Given the description of an element on the screen output the (x, y) to click on. 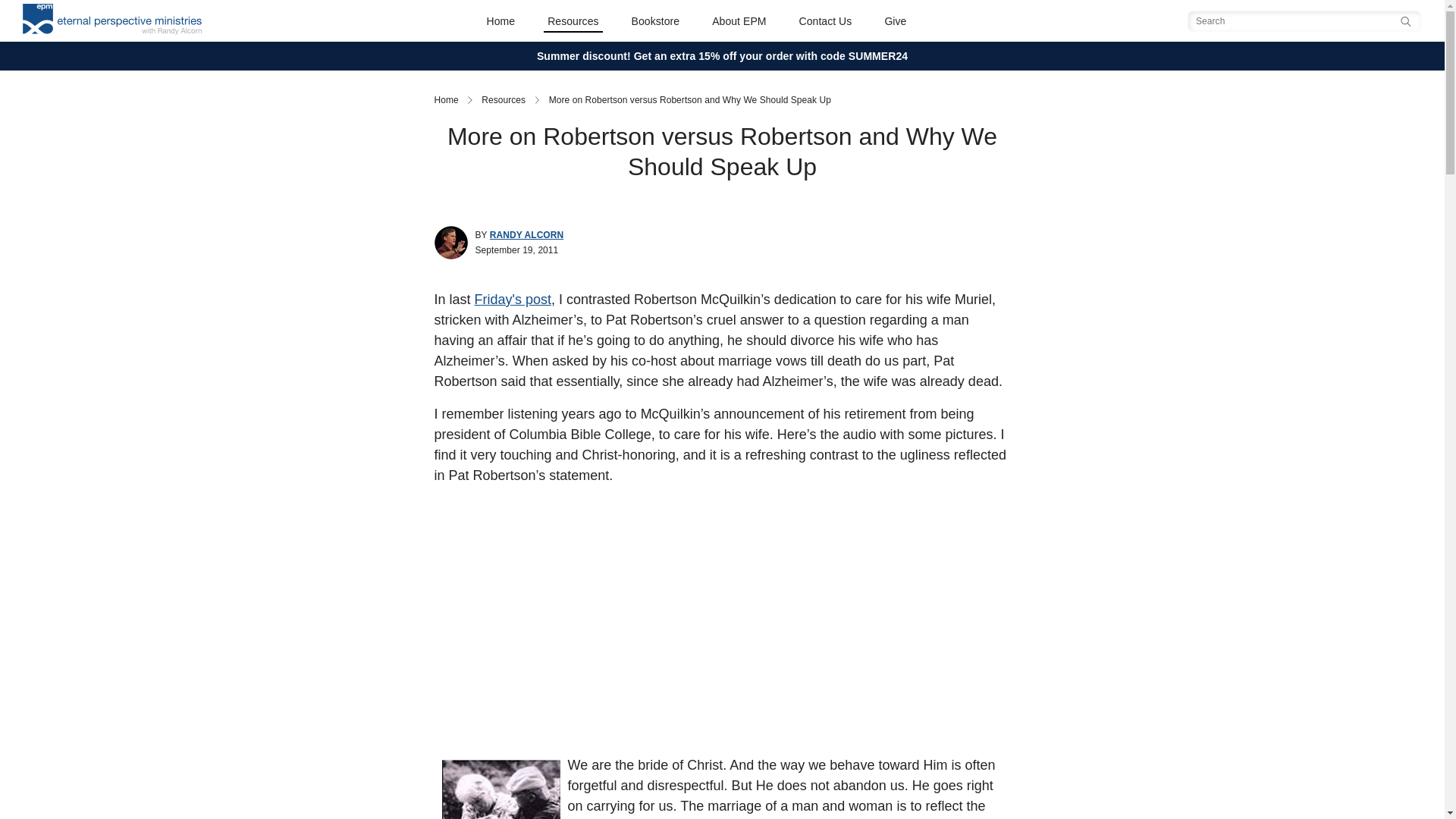
Bookstore (655, 20)
About EPM (738, 20)
Home (445, 100)
Home (501, 20)
RANDY ALCORN (526, 235)
Give (895, 20)
Contact Us (825, 20)
Resources (503, 100)
Friday's post (512, 299)
Resources (572, 20)
